Given the description of an element on the screen output the (x, y) to click on. 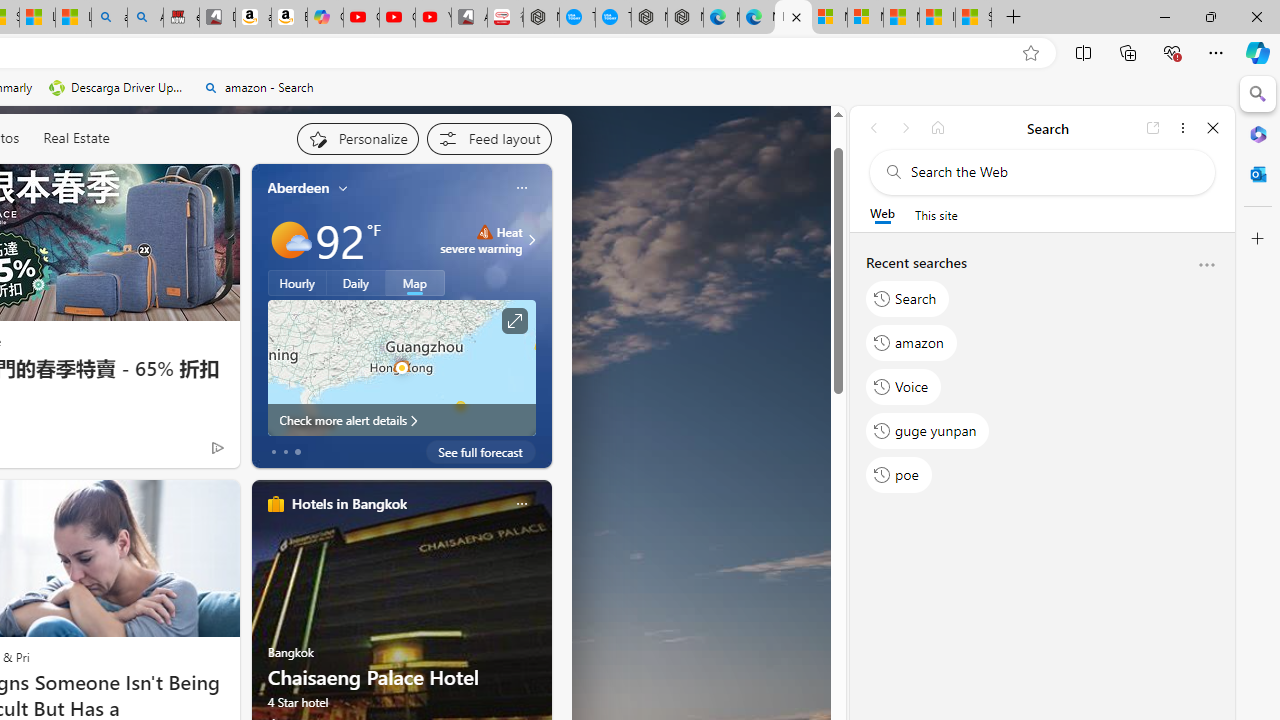
Personalize your feed" (356, 138)
You're following The Weather Channel (175, 452)
Recent searchesSearchamazonVoiceguge yunpanpoe (1042, 377)
